Given the description of an element on the screen output the (x, y) to click on. 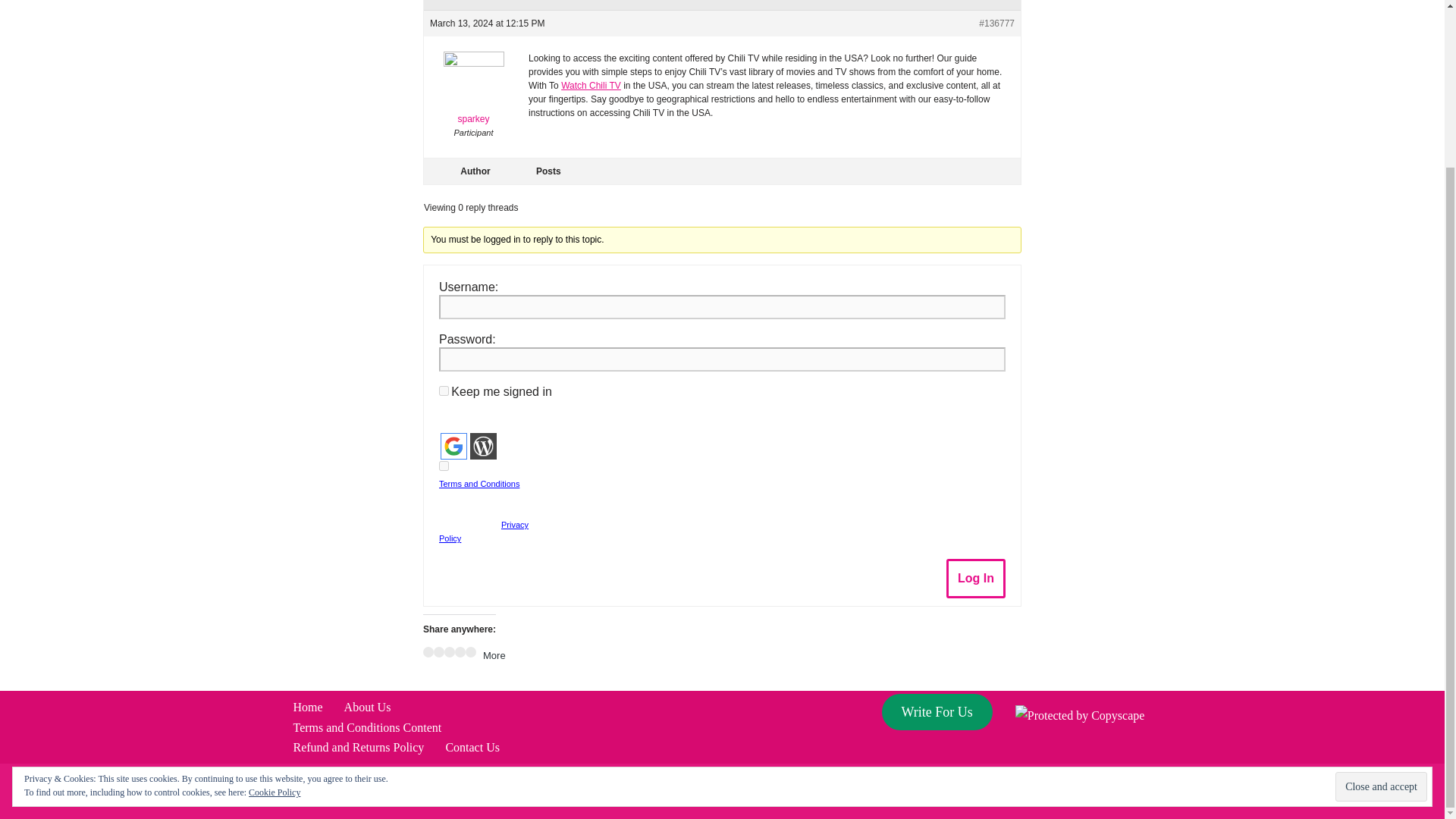
Close and accept (1380, 586)
Click to share on WhatsApp (470, 652)
1 (443, 465)
Click to share on Twitter (438, 652)
Click to share on Tumblr (459, 652)
Click to share on Pinterest (449, 652)
forever (443, 390)
Login with Wordpress (483, 446)
Click to share on Facebook (428, 652)
Login with Google (454, 446)
View sparkey's profile (472, 92)
